Given the description of an element on the screen output the (x, y) to click on. 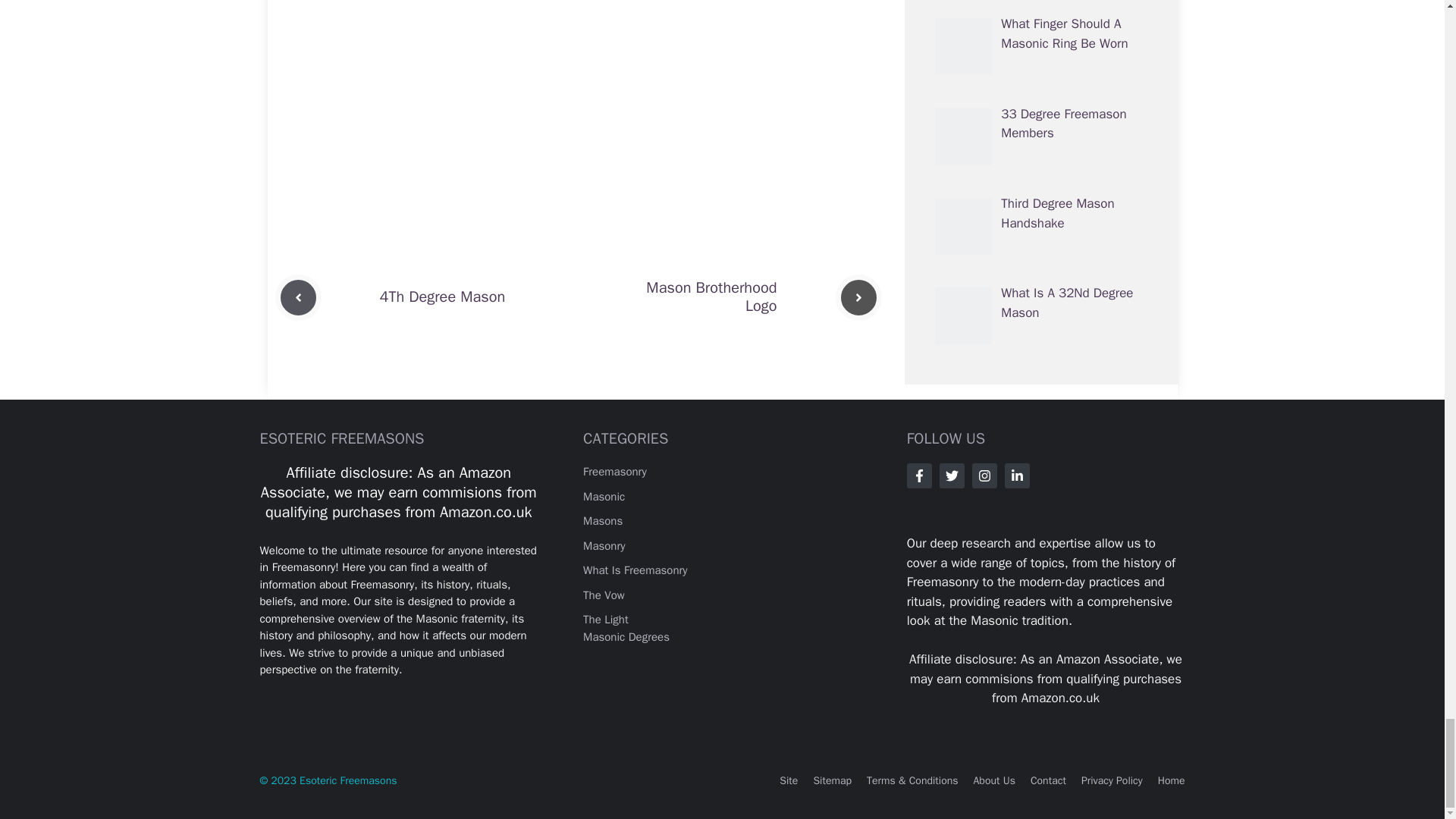
This will CHANGE the way you wear your Masonic Ring FOREVER (578, 69)
